Given the description of an element on the screen output the (x, y) to click on. 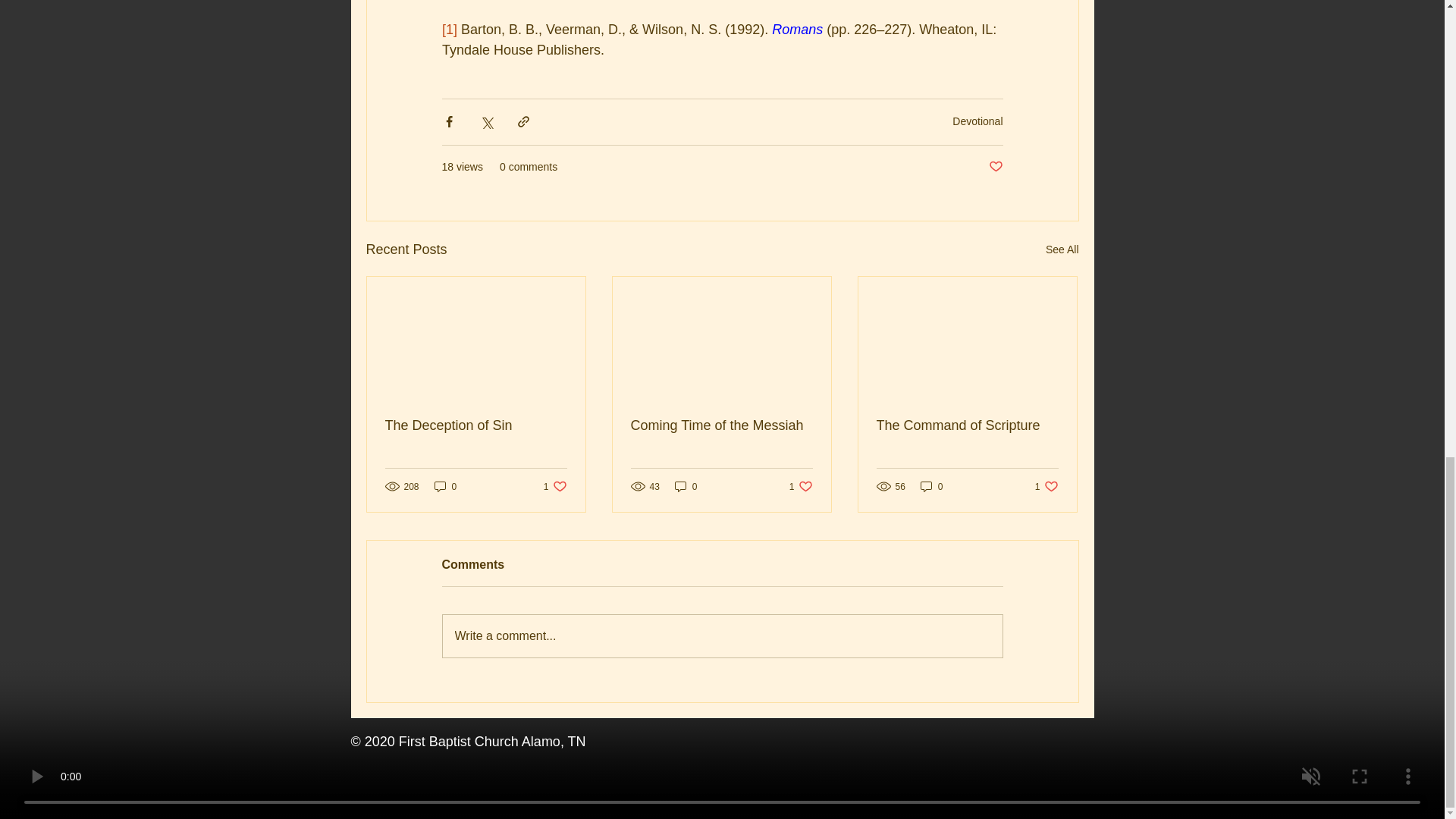
0 (685, 486)
See All (1061, 250)
Romans (796, 29)
0 (445, 486)
The Deception of Sin (476, 425)
Devotional (977, 121)
Post not marked as liked (995, 166)
Coming Time of the Messiah (721, 425)
